Given the description of an element on the screen output the (x, y) to click on. 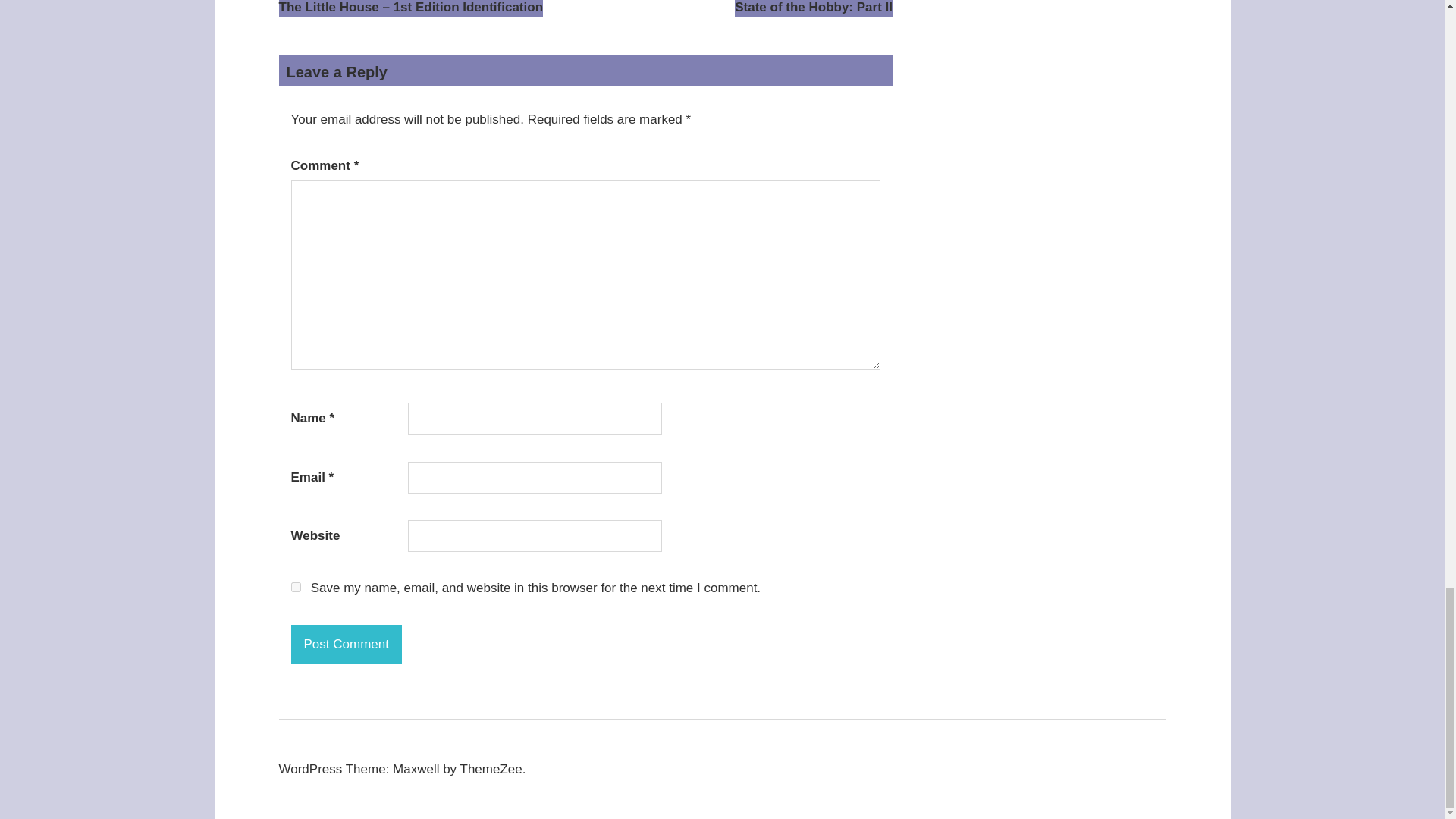
Post Comment (346, 643)
yes (296, 587)
Post Comment (813, 8)
